Given the description of an element on the screen output the (x, y) to click on. 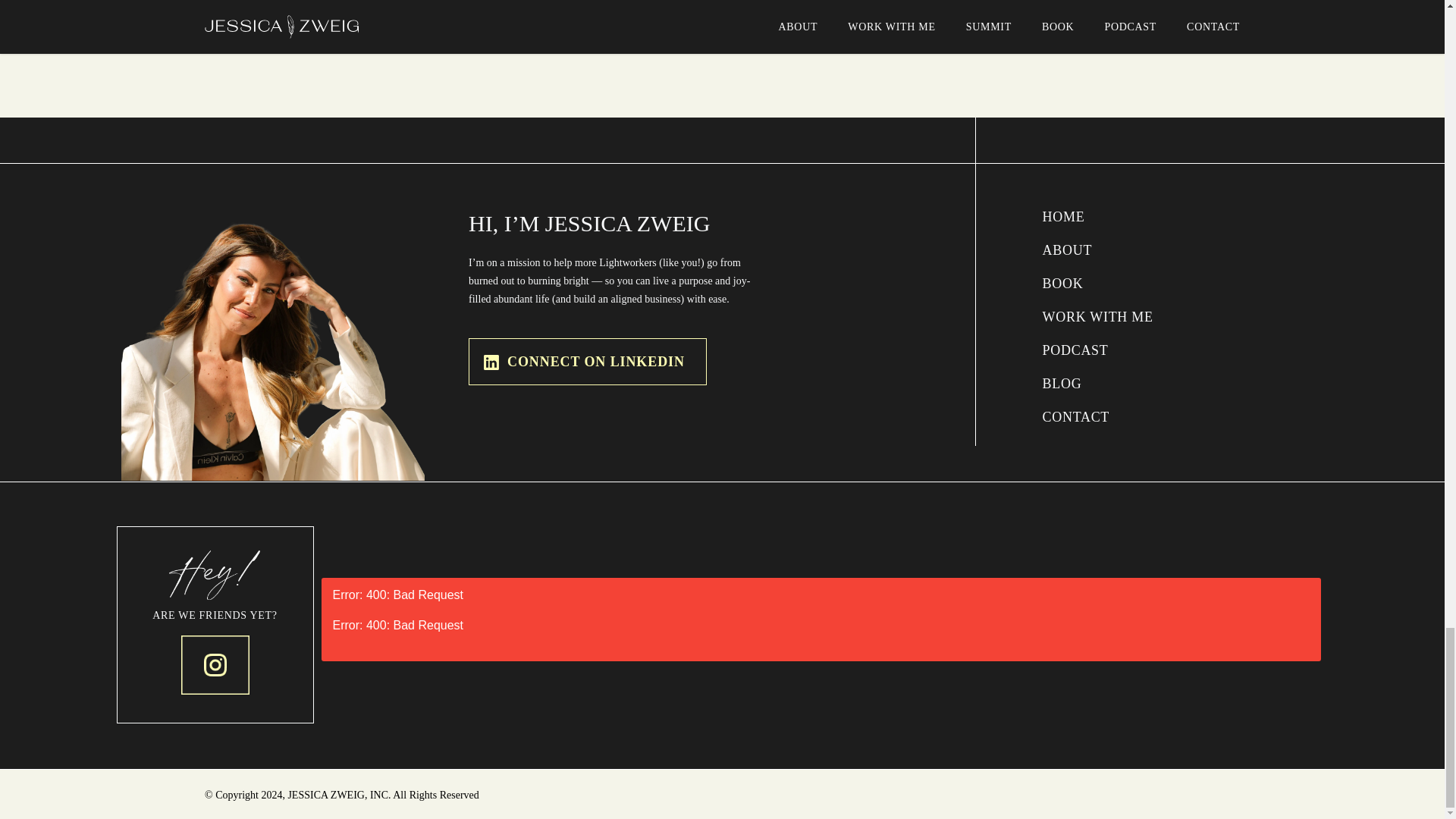
CONTACT (1117, 416)
CONNECT ON LINKEDIN (587, 361)
ABOUT (1117, 249)
PODCAST (1117, 350)
BOOK (1117, 283)
BLOG (1117, 383)
KEEP ME IN THE LOOP! (1046, 28)
HOME (1117, 216)
WORK WITH ME (1117, 316)
